Given the description of an element on the screen output the (x, y) to click on. 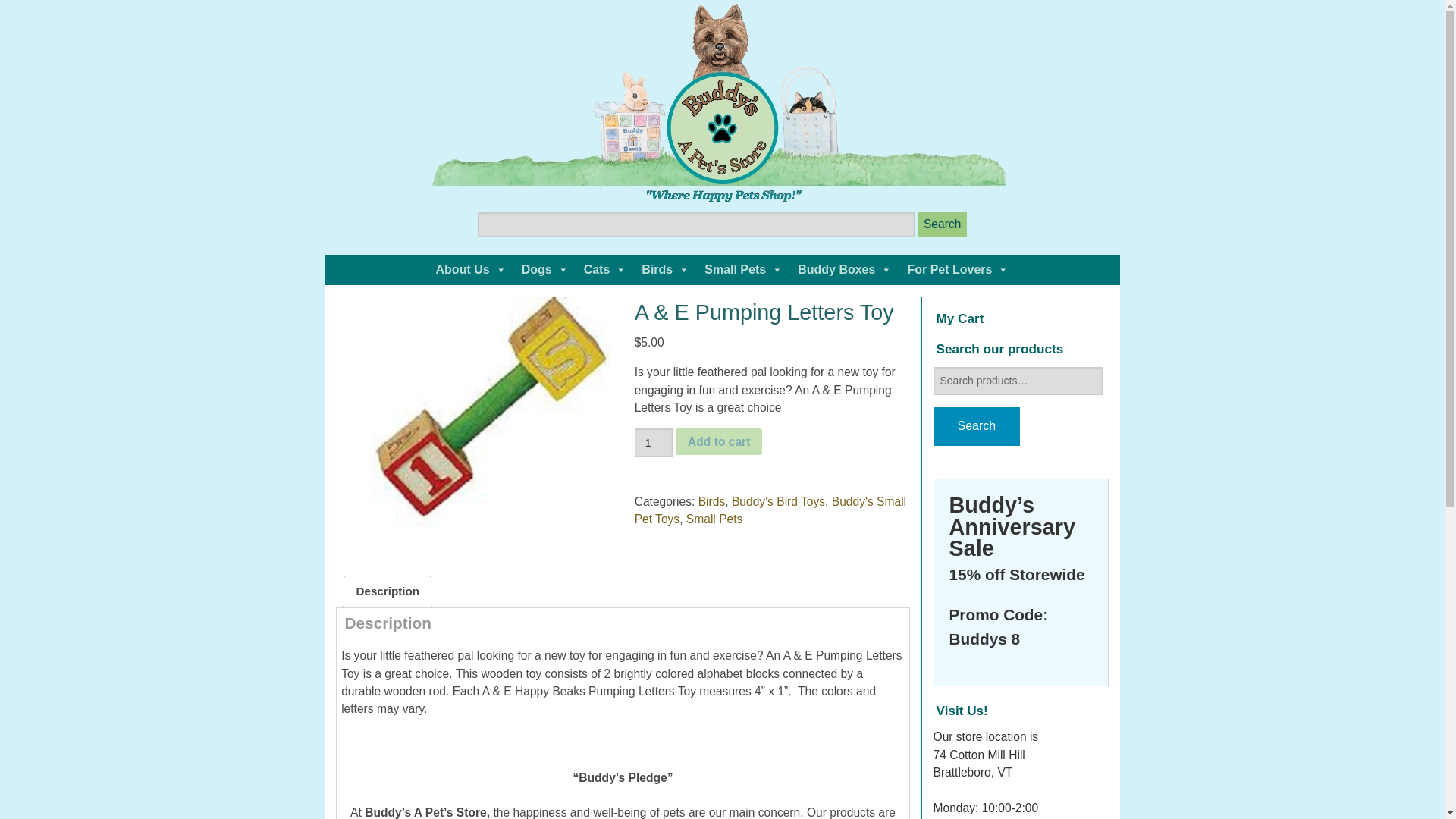
1 (653, 442)
Search (942, 224)
Dogs (544, 269)
Small Pets (743, 269)
Birds (665, 269)
Cats (605, 269)
Search (942, 224)
About Us (470, 269)
